Given the description of an element on the screen output the (x, y) to click on. 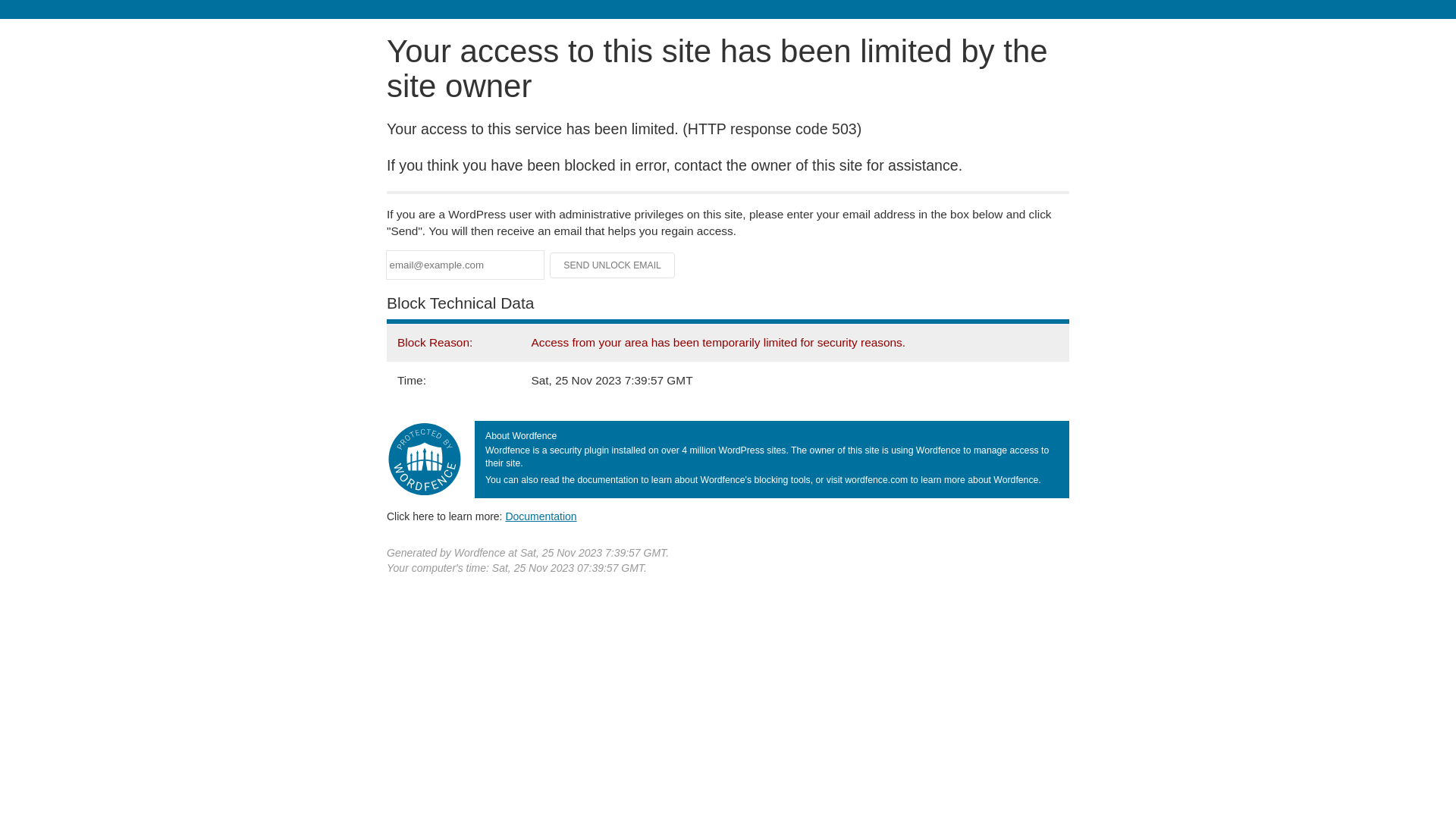
Documentation Element type: text (540, 516)
Send Unlock Email Element type: text (612, 265)
